Given the description of an element on the screen output the (x, y) to click on. 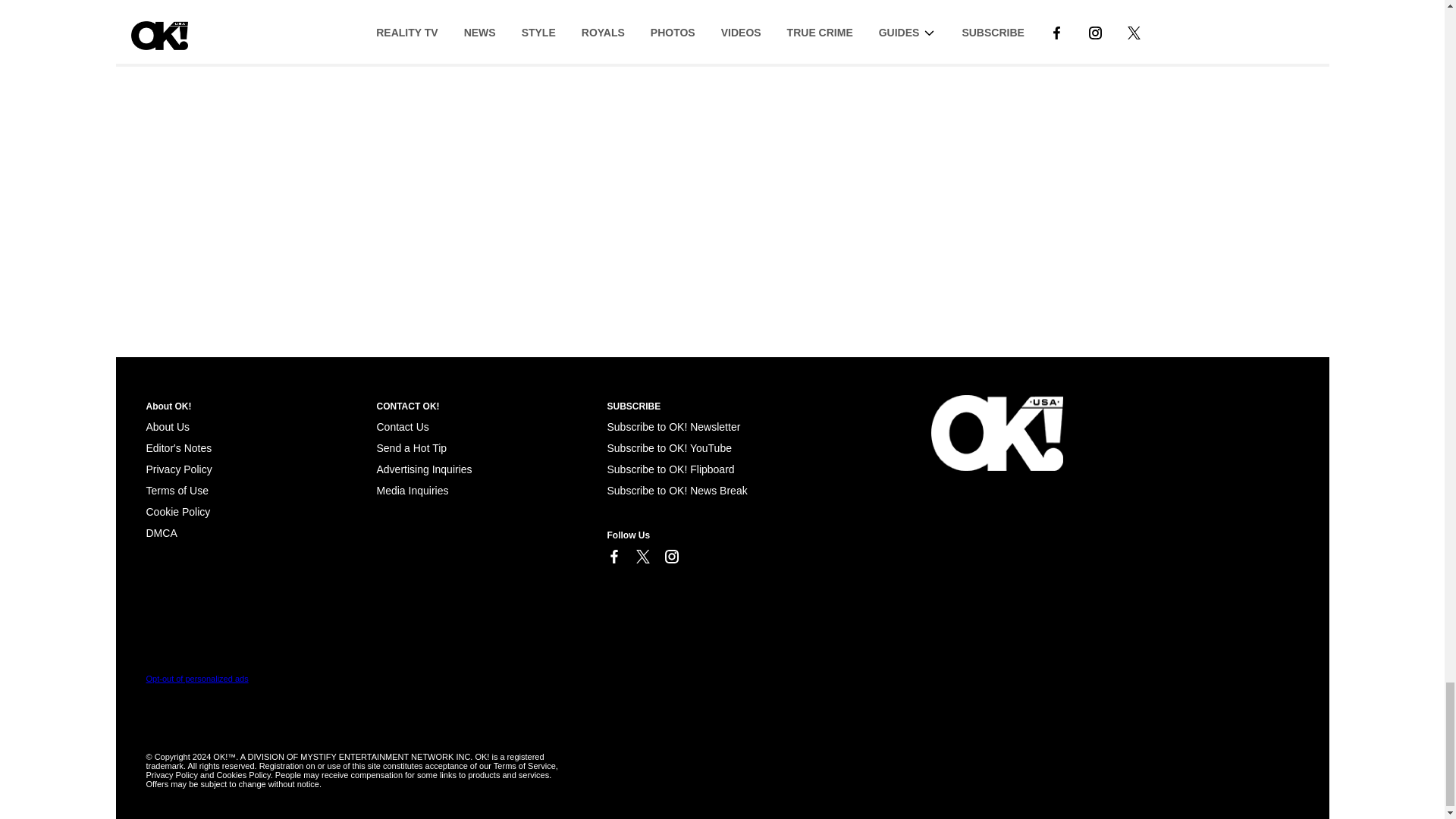
Terms of Use (176, 490)
Cookie Policy (160, 532)
Editor's Notes (178, 448)
Privacy Policy (178, 469)
Link to Facebook (613, 556)
Link to X (641, 556)
Cookie Policy (177, 511)
Link to Instagram (670, 556)
About Us (167, 426)
